Given the description of an element on the screen output the (x, y) to click on. 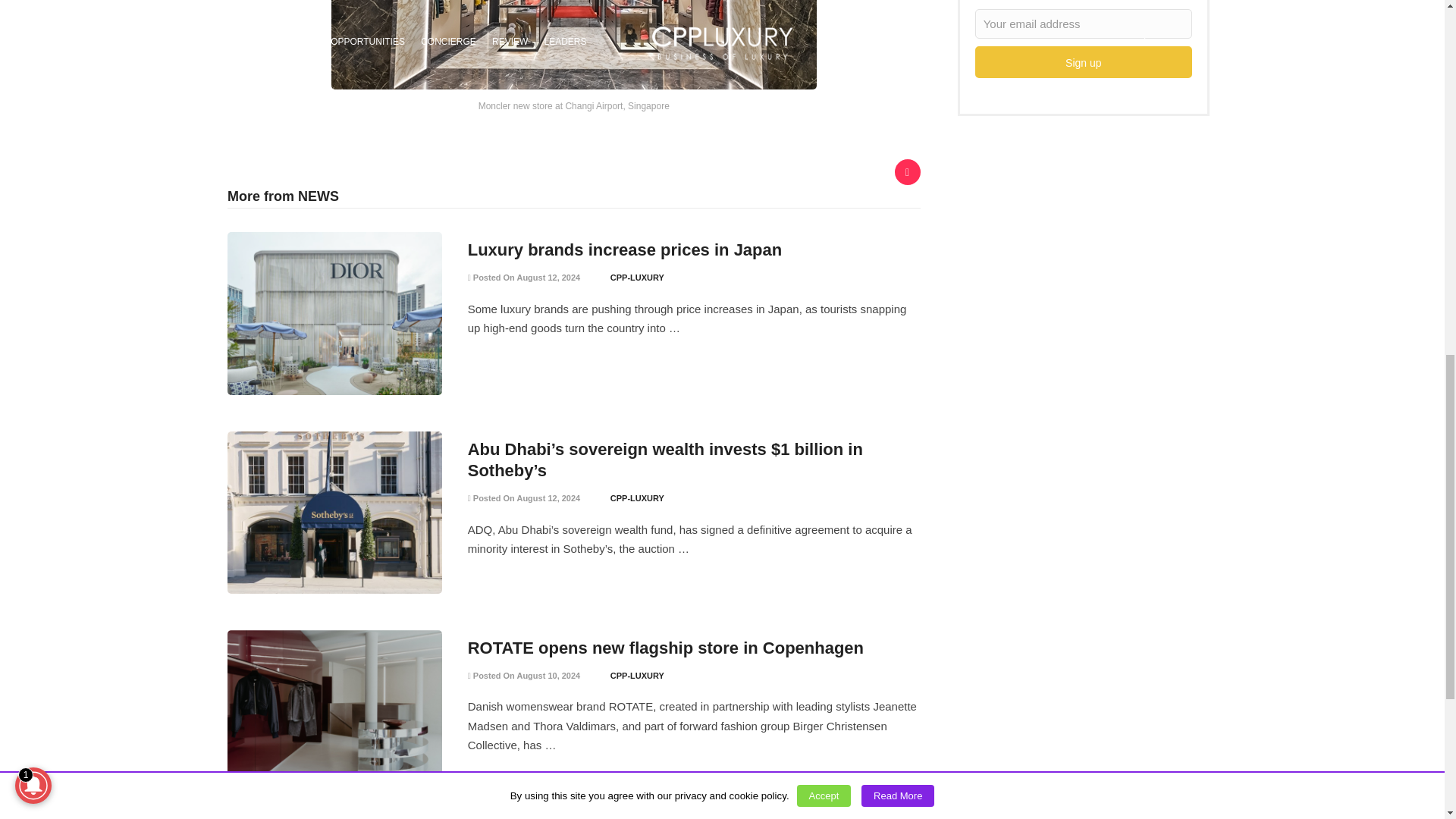
Posted On August 12, 2024 (523, 276)
Luxury brands increase prices in Japan (625, 249)
ROTATE opens new flagship store in Copenhagen (665, 647)
Luxury brands increase prices in Japan (625, 249)
Sign up (1083, 61)
CPP-LUXURY (636, 276)
